Given the description of an element on the screen output the (x, y) to click on. 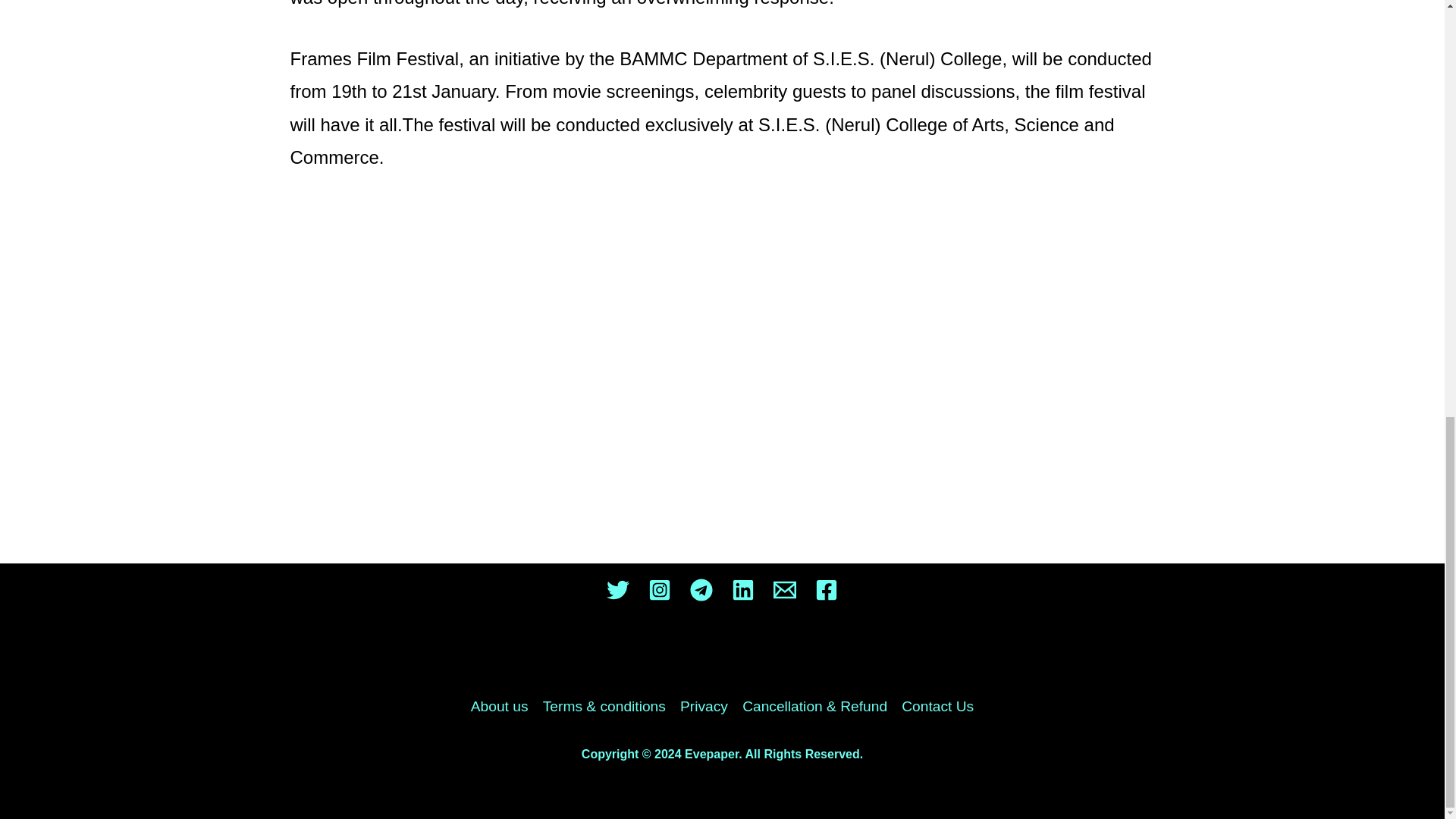
About us (502, 706)
Privacy (703, 706)
Contact Us (934, 706)
